Given the description of an element on the screen output the (x, y) to click on. 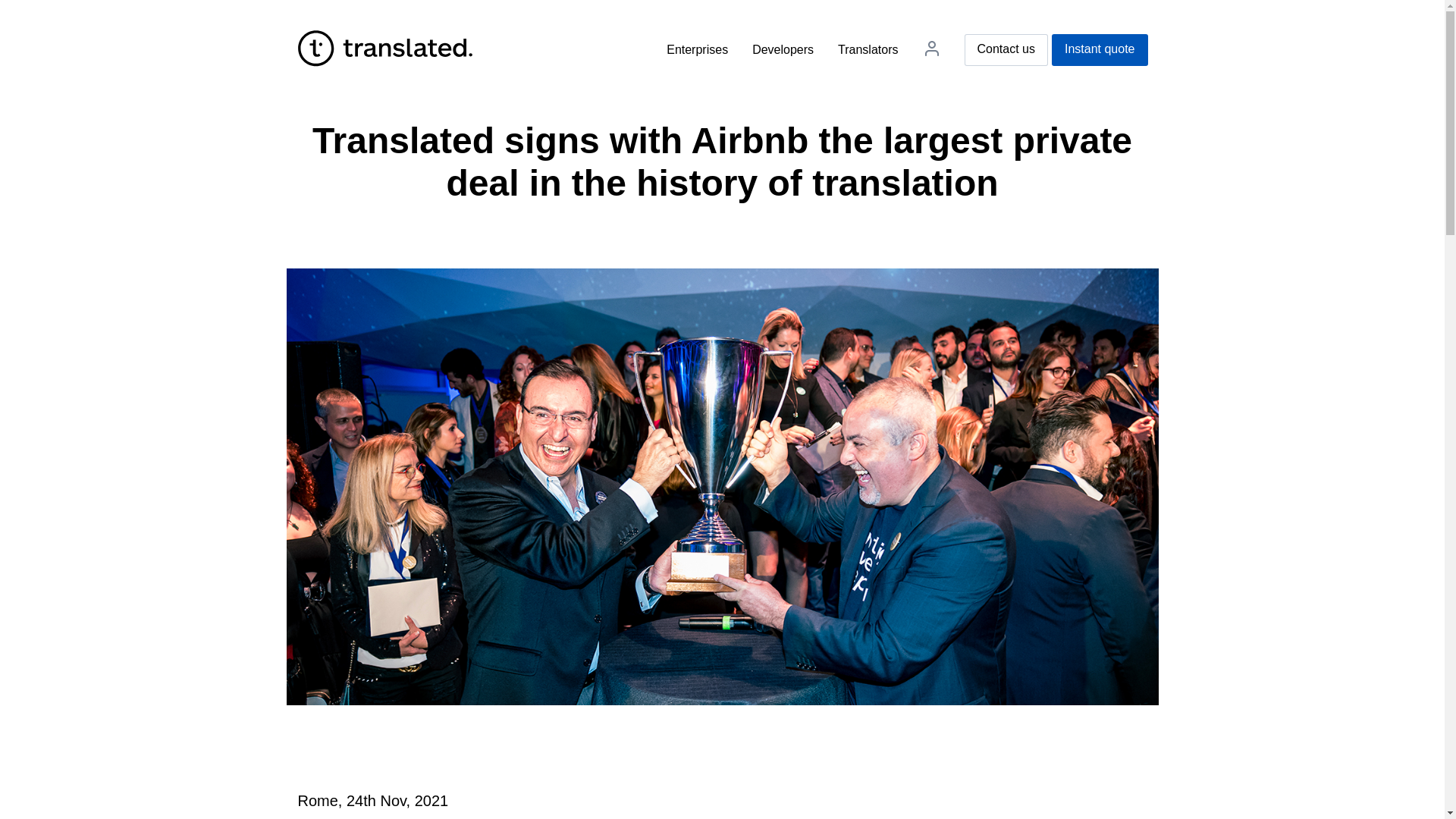
Developers (782, 49)
Instant quote (1099, 50)
Enterprises (697, 49)
Translators (868, 49)
Contact us (1004, 50)
